Given the description of an element on the screen output the (x, y) to click on. 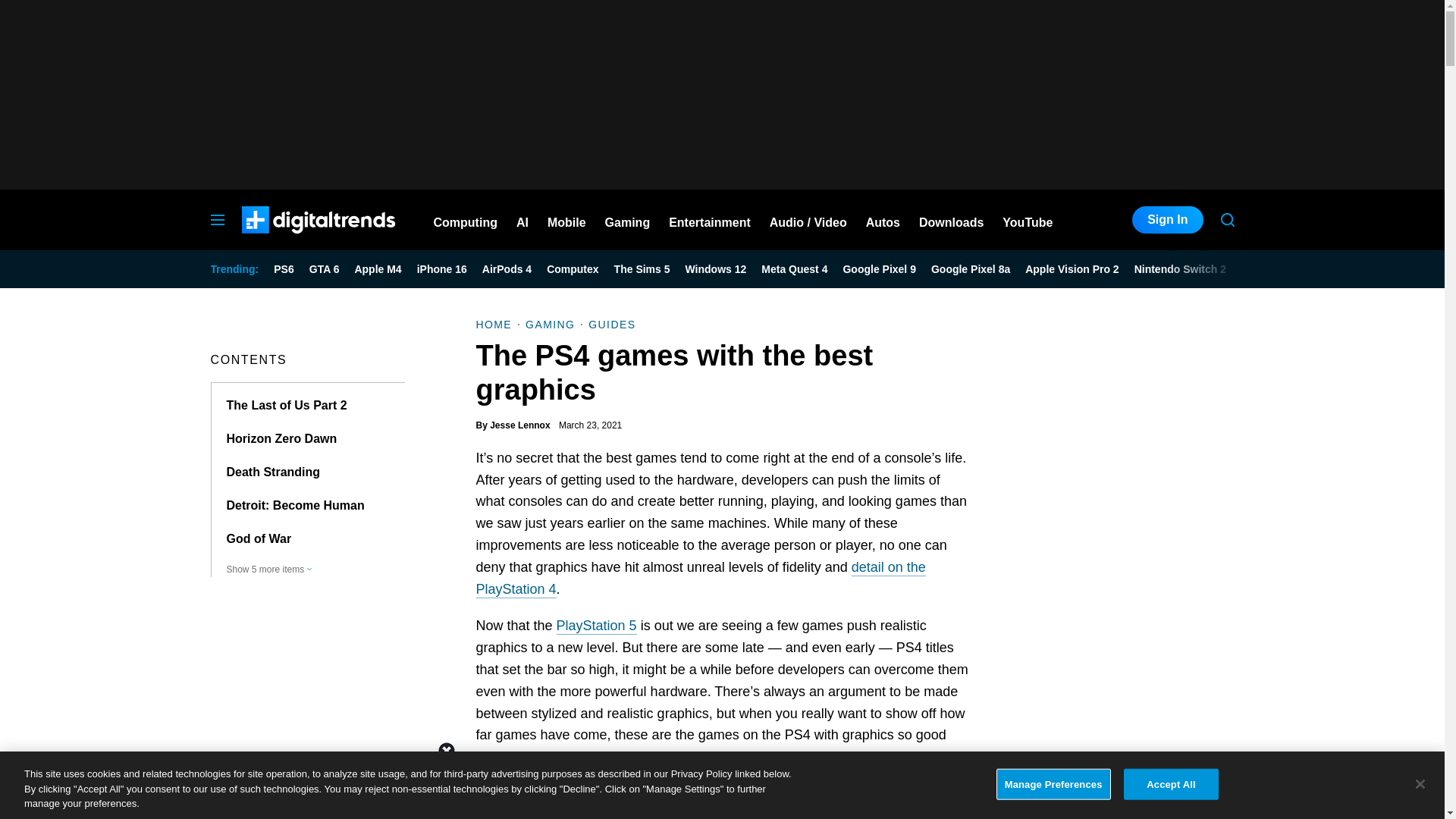
Computing (465, 219)
Downloads (951, 219)
Entertainment (709, 219)
3rd party ad content (721, 785)
Sign In (1167, 219)
